Given the description of an element on the screen output the (x, y) to click on. 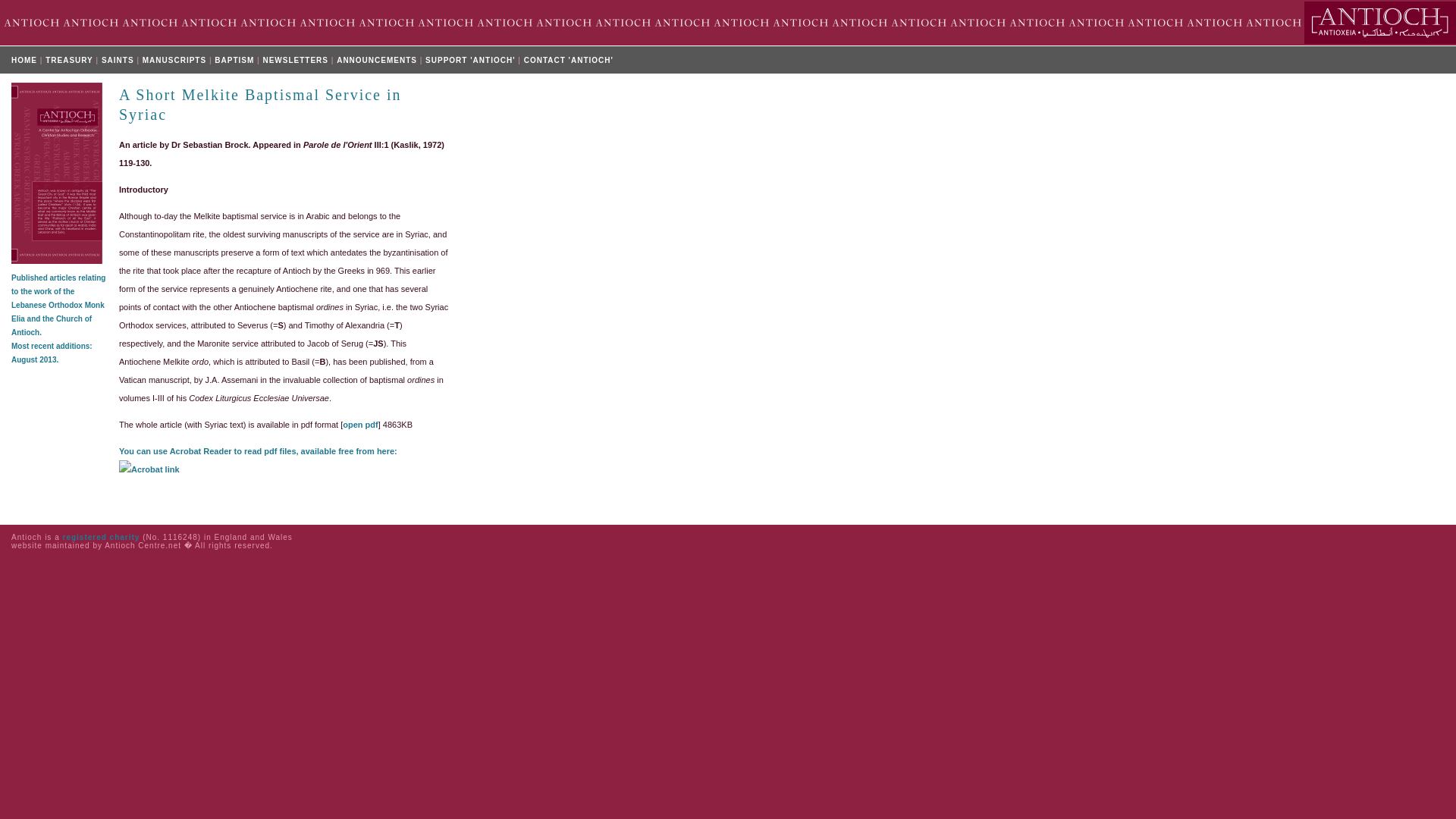
HOME (24, 60)
MANUSCRIPTS (174, 60)
CONTACT 'ANTIOCH' (568, 60)
ANNOUNCEMENTS (376, 60)
registered charity (100, 537)
NEWSLETTERS (295, 60)
TREASURY (69, 60)
SUPPORT 'ANTIOCH' (470, 60)
BAPTISM (233, 60)
open pdf (359, 424)
SAINTS (117, 60)
